Given the description of an element on the screen output the (x, y) to click on. 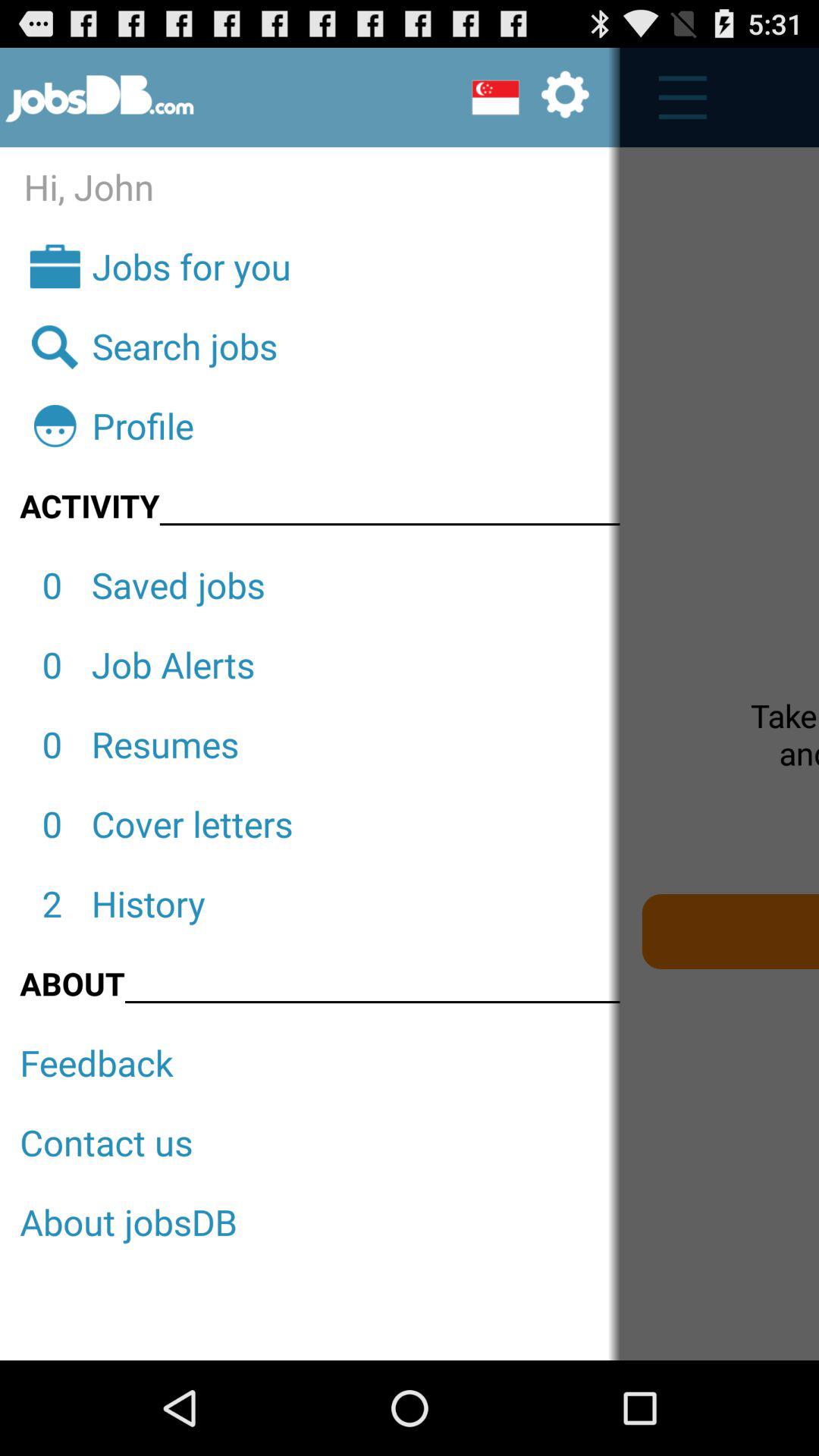
click on the button next to settings icon (674, 98)
